Given the description of an element on the screen output the (x, y) to click on. 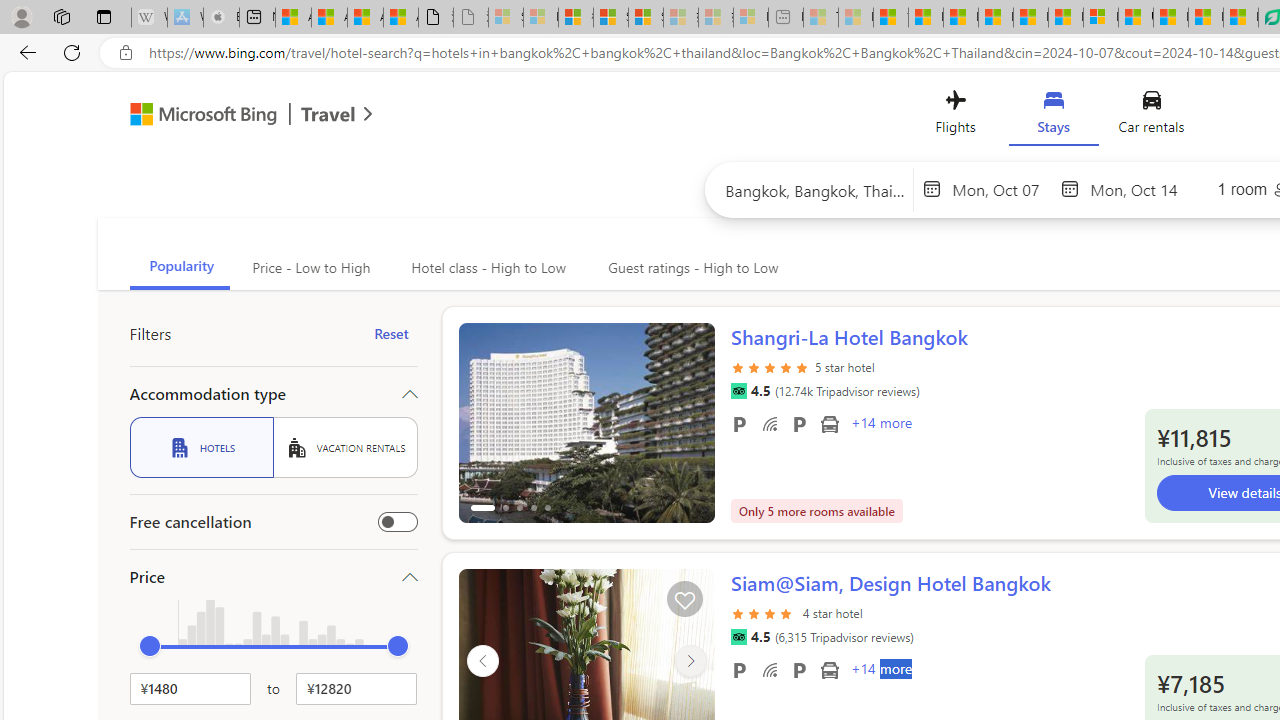
Foo BAR | Trusted Community Engagement and Contributions (1065, 17)
Save to collections (683, 599)
Valet parking (798, 669)
ScrollRight (690, 660)
min  (149, 645)
Class: msft-travel-logo (328, 114)
New tab - Sleeping (785, 17)
